Given the description of an element on the screen output the (x, y) to click on. 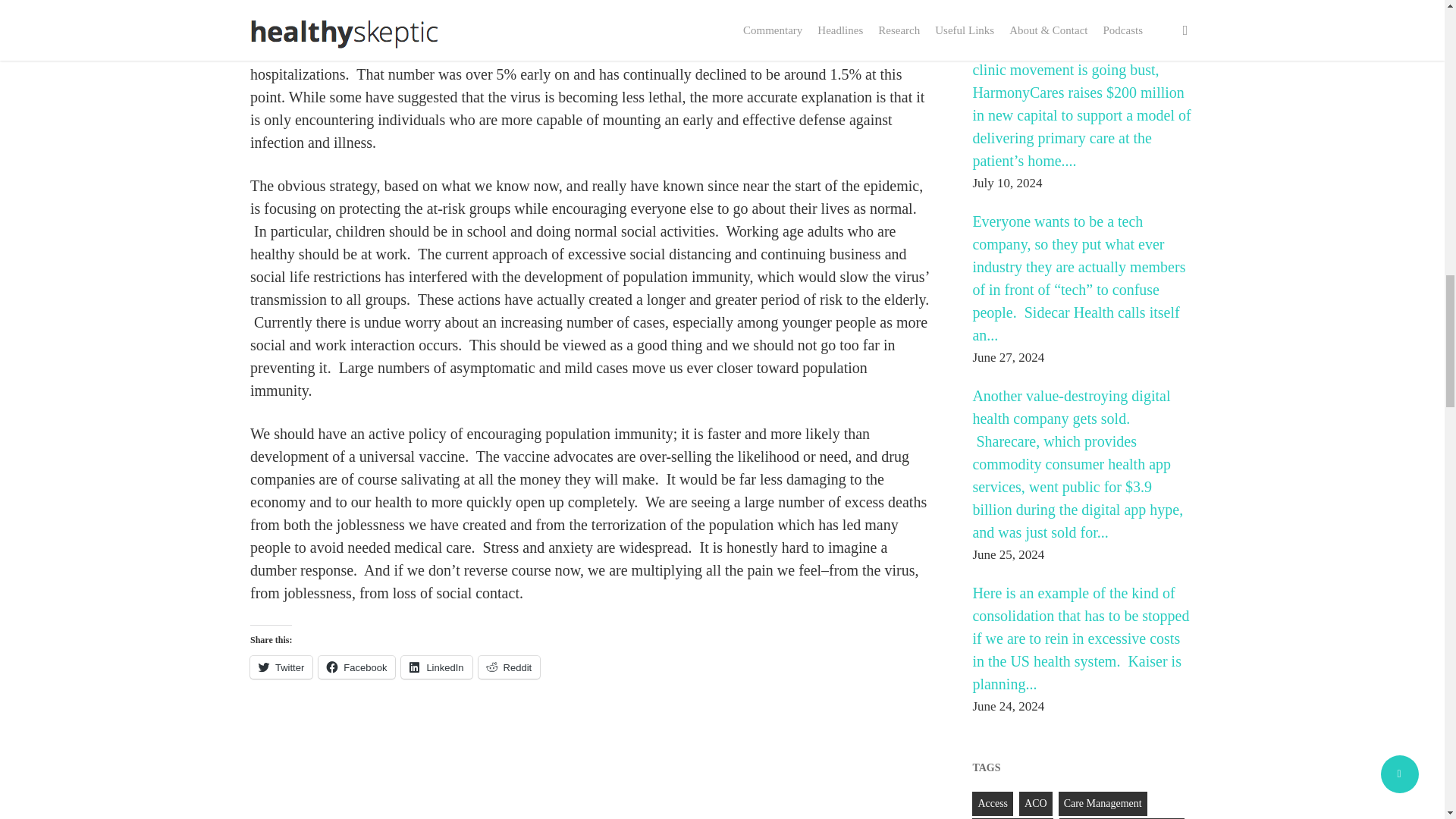
Access (992, 803)
Click to share on LinkedIn (436, 667)
Click to share on Twitter (281, 667)
LinkedIn (436, 667)
Click to share on Reddit (509, 667)
Click to share on Facebook (356, 667)
Twitter (281, 667)
Reddit (509, 667)
Facebook (356, 667)
